Given the description of an element on the screen output the (x, y) to click on. 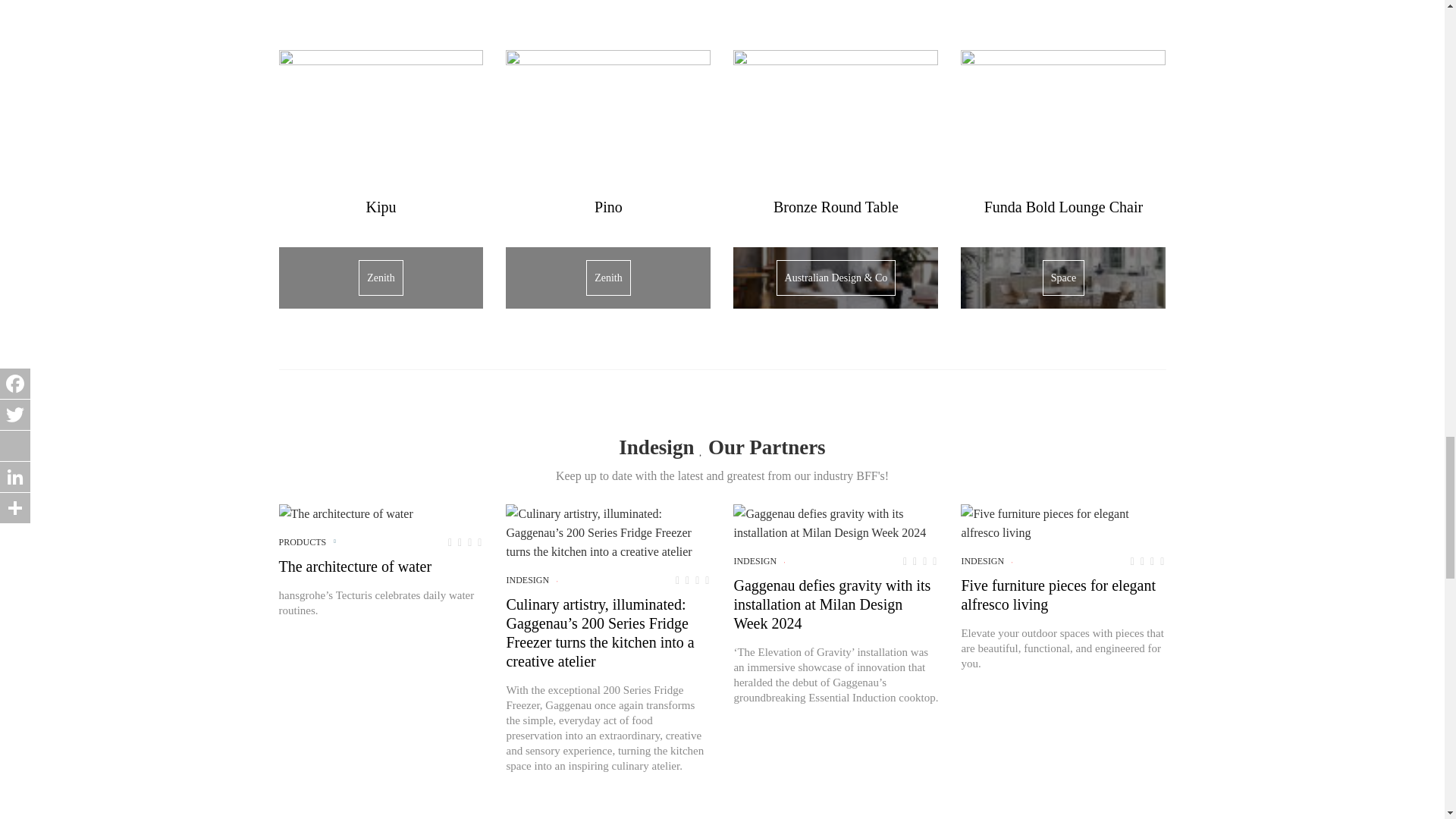
Five furniture pieces for elegant alfresco living (1063, 523)
The architecture of water (346, 513)
